Given the description of an element on the screen output the (x, y) to click on. 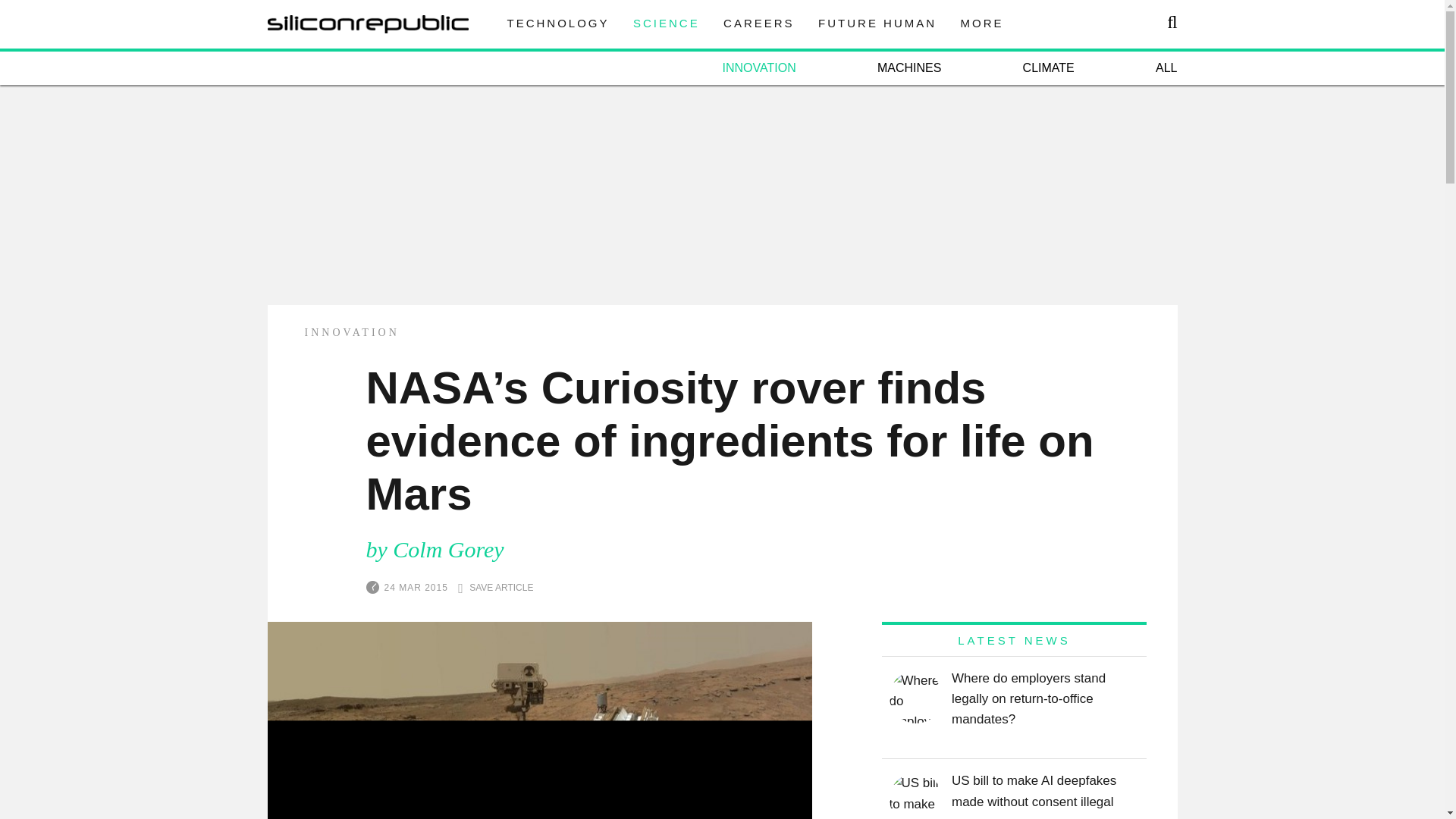
TECHNOLOGY (557, 22)
SCIENCE (666, 22)
